Given the description of an element on the screen output the (x, y) to click on. 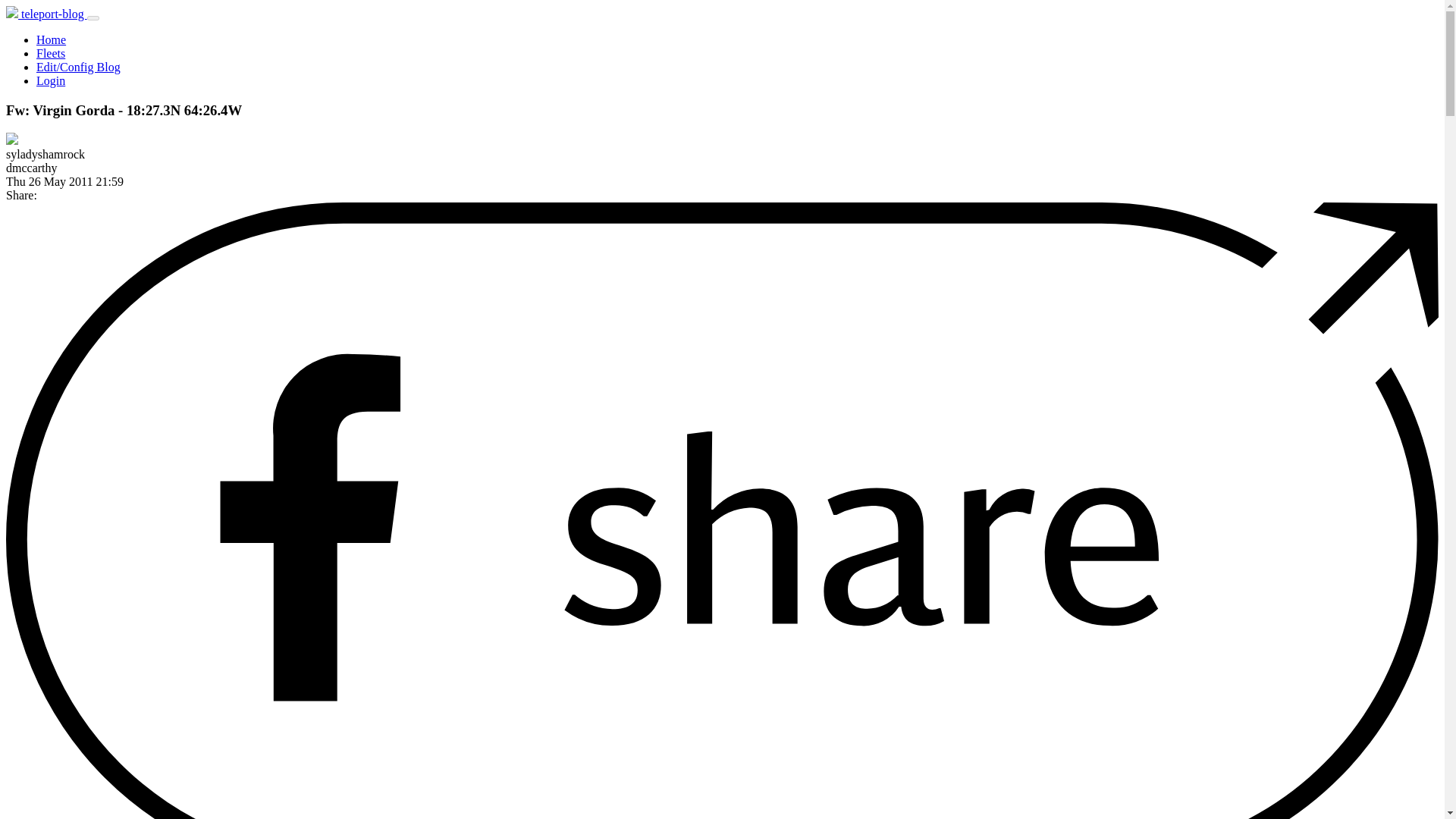
Login (50, 80)
teleport-blog (46, 13)
Fleets (50, 52)
Home (50, 39)
